Given the description of an element on the screen output the (x, y) to click on. 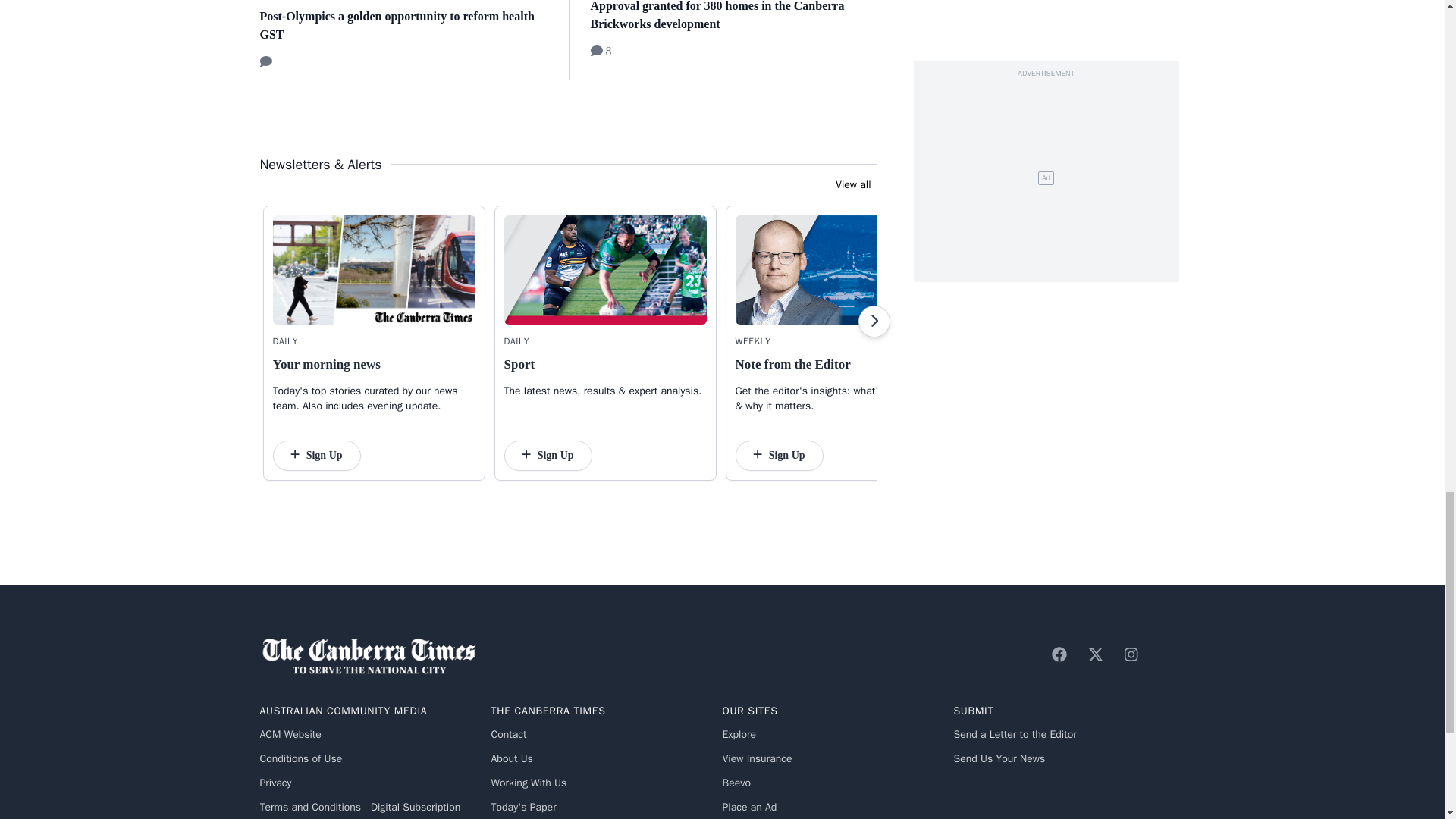
Note from the Editor Newsletter (836, 269)
Sport Newsletter (604, 269)
Your morning news Newsletter (374, 269)
